Given the description of an element on the screen output the (x, y) to click on. 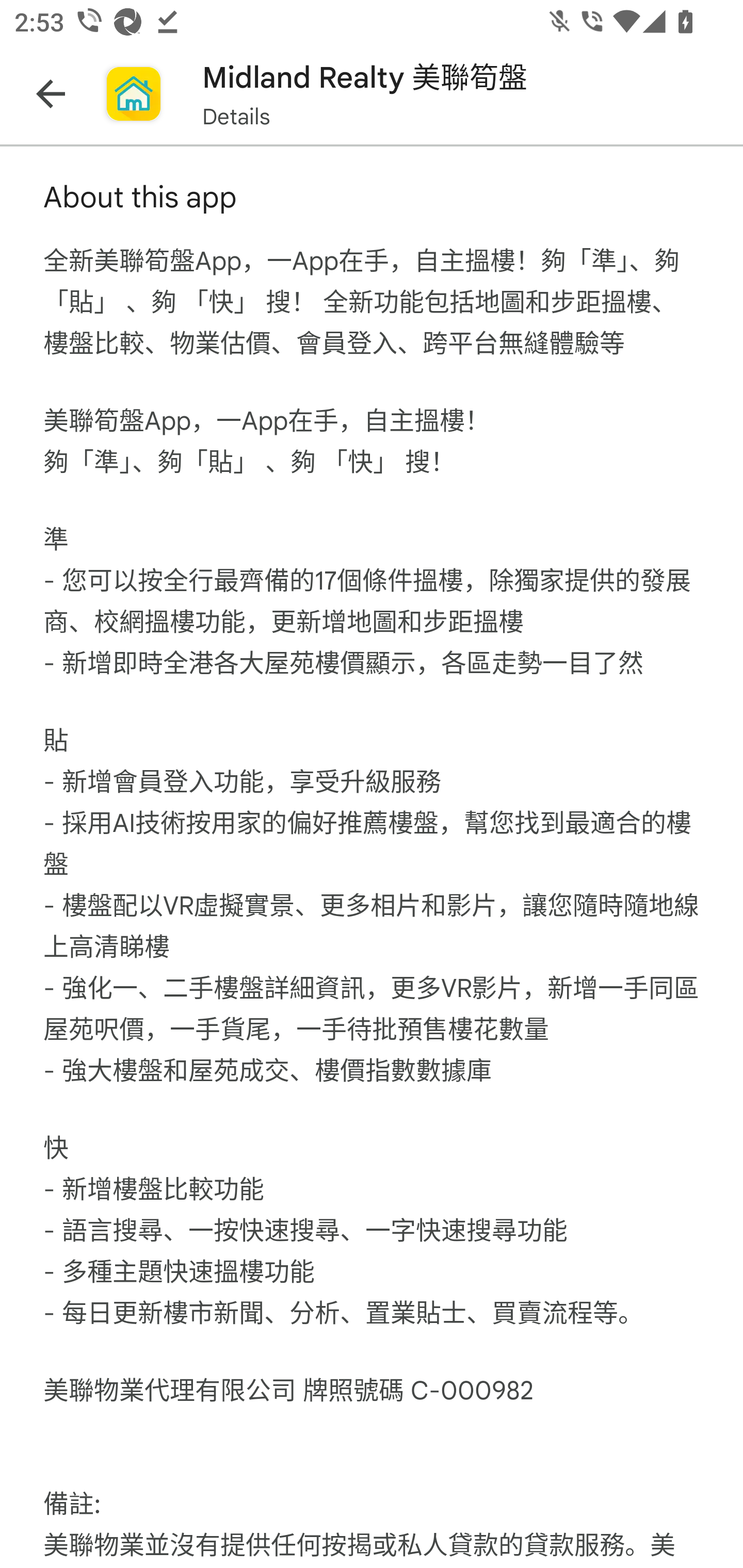
Navigate up (50, 93)
